Given the description of an element on the screen output the (x, y) to click on. 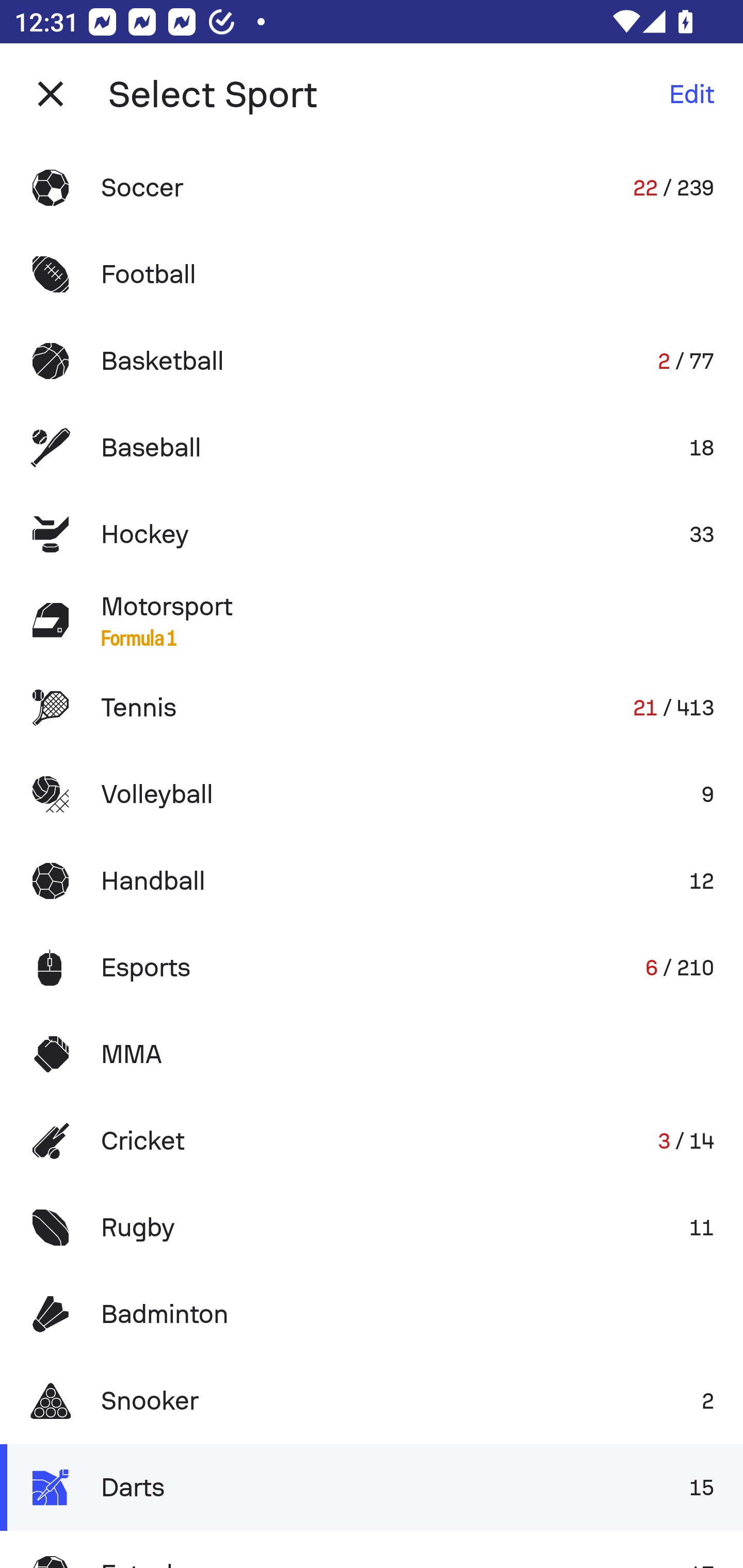
Edit (691, 93)
Soccer 22 / 239 (371, 187)
Football (371, 274)
Basketball 2 / 77 (371, 361)
Baseball 18 (371, 447)
Hockey 33 (371, 533)
Motorsport Formula 1 (371, 620)
Tennis 21 / 413 (371, 707)
Volleyball 9 (371, 794)
Handball 12 (371, 880)
Esports 6 / 210 (371, 967)
MMA (371, 1054)
Cricket 3 / 14 (371, 1140)
Rugby 11 (371, 1227)
Badminton (371, 1314)
Snooker 2 (371, 1400)
Darts 15 (371, 1487)
